Given the description of an element on the screen output the (x, y) to click on. 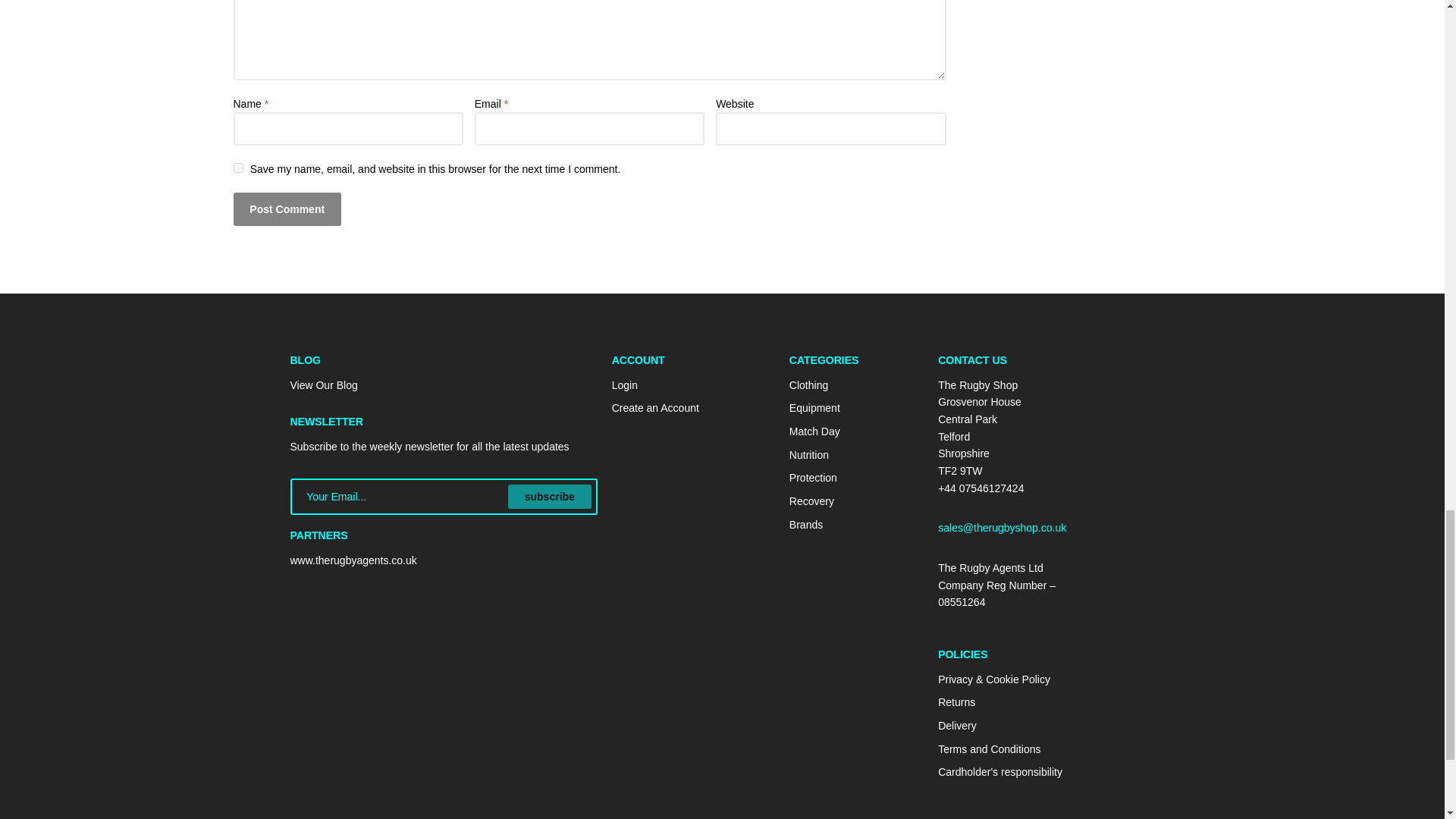
yes (237, 167)
Post Comment (286, 209)
